Given the description of an element on the screen output the (x, y) to click on. 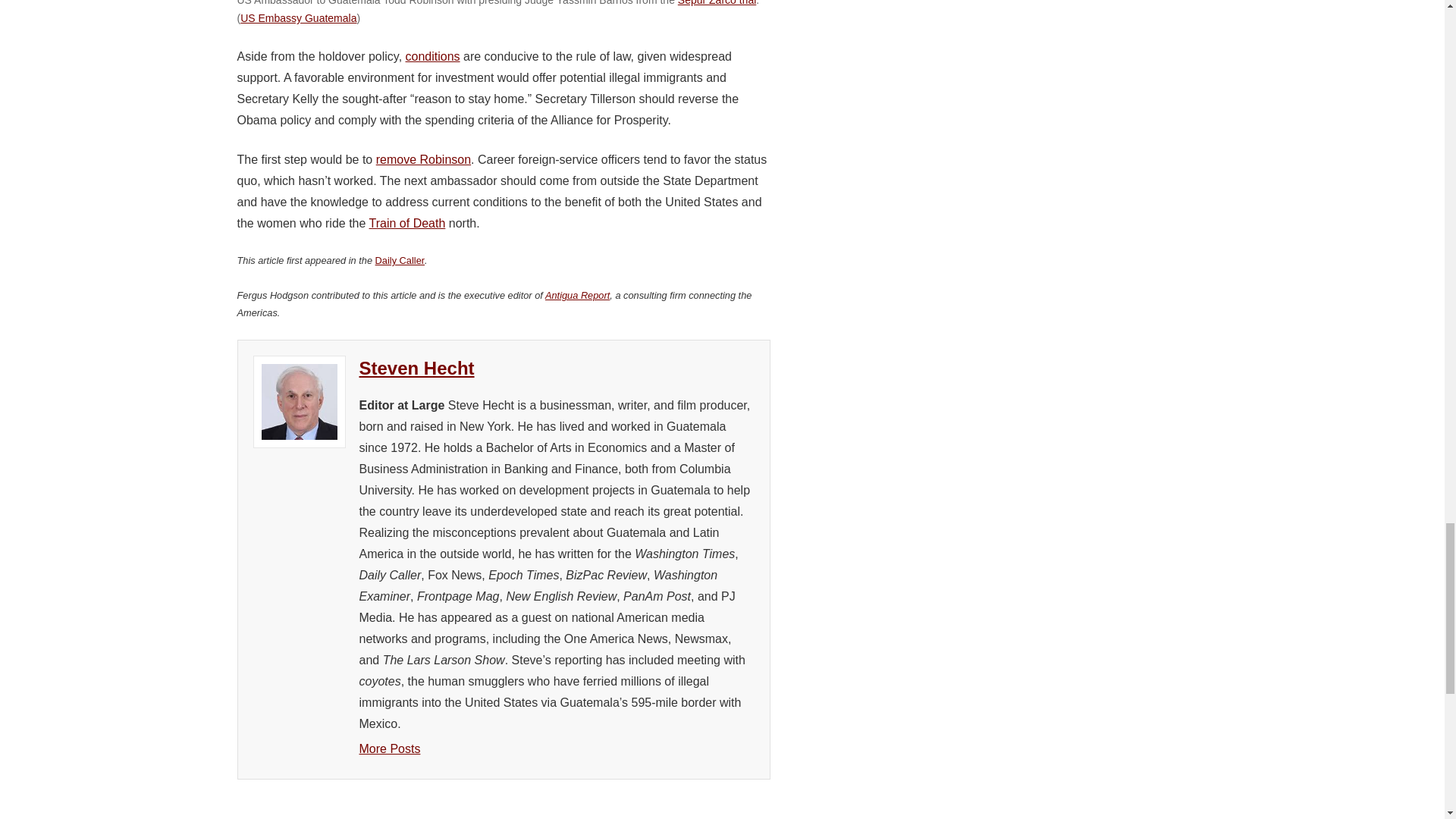
Steven Hecht (416, 367)
More posts by Steven Hecht (389, 748)
